Given the description of an element on the screen output the (x, y) to click on. 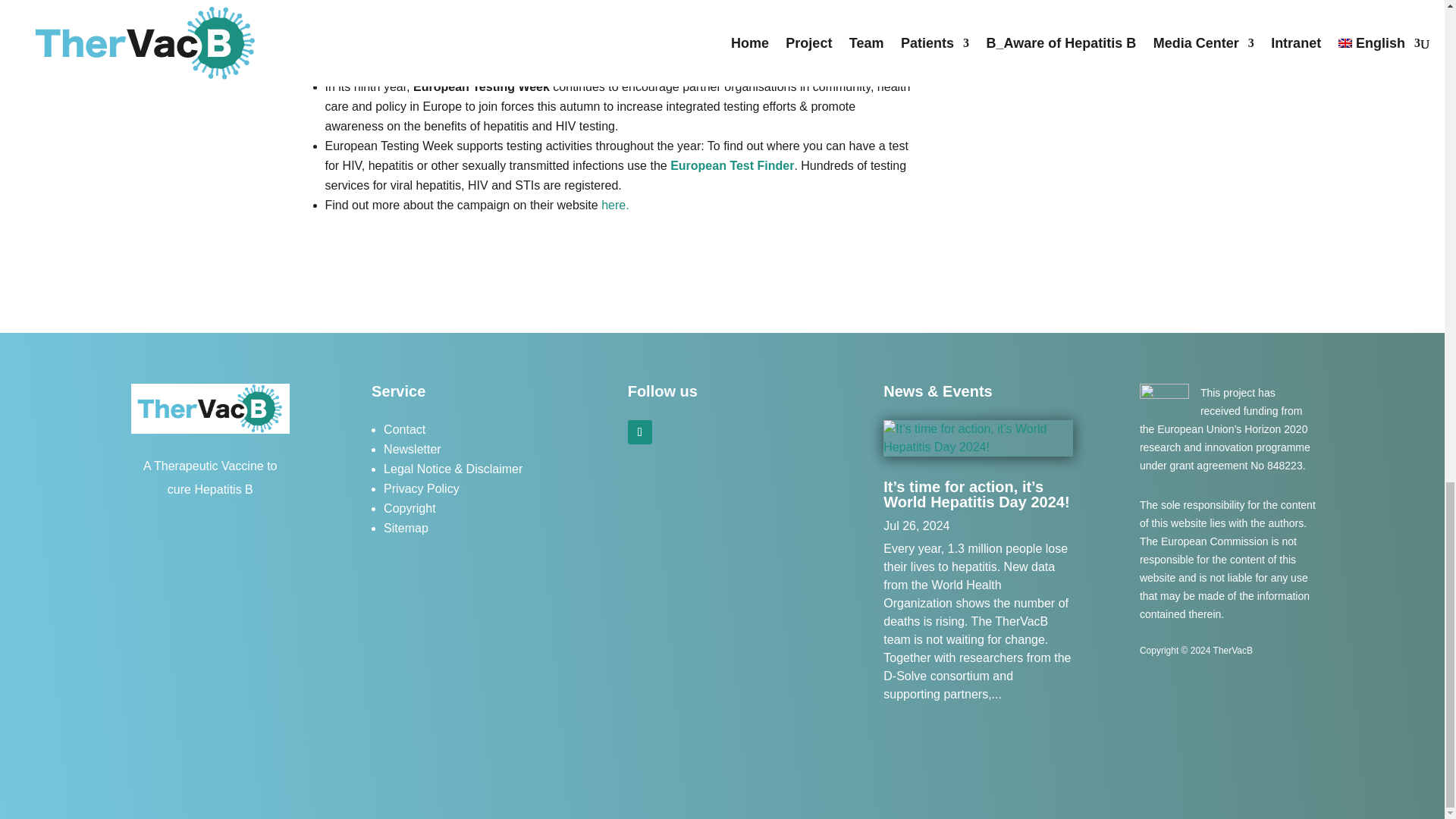
here. (614, 205)
European Test Finder (731, 164)
European Testing Week (614, 205)
